Given the description of an element on the screen output the (x, y) to click on. 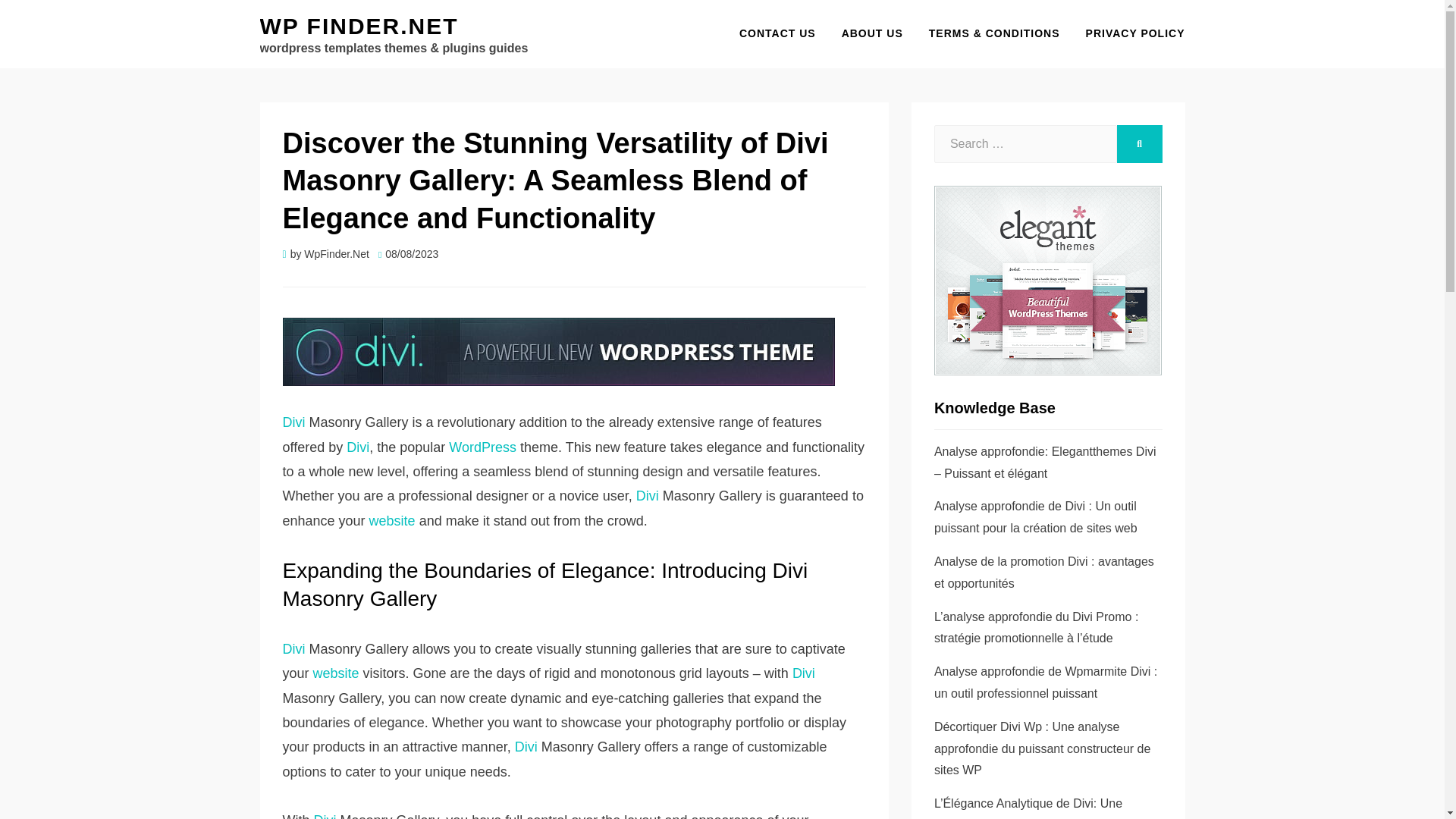
Divi (325, 816)
WP Finder.net (358, 25)
WpFinder.Net (336, 254)
WordPress (482, 447)
Divi (293, 648)
Divi (803, 672)
website (336, 672)
PRIVACY POLICY (1129, 33)
Divi (647, 495)
CONTACT US (777, 33)
WP FINDER.NET (358, 25)
ABOUT US (871, 33)
Divi (293, 421)
website (391, 520)
Divi (357, 447)
